Given the description of an element on the screen output the (x, y) to click on. 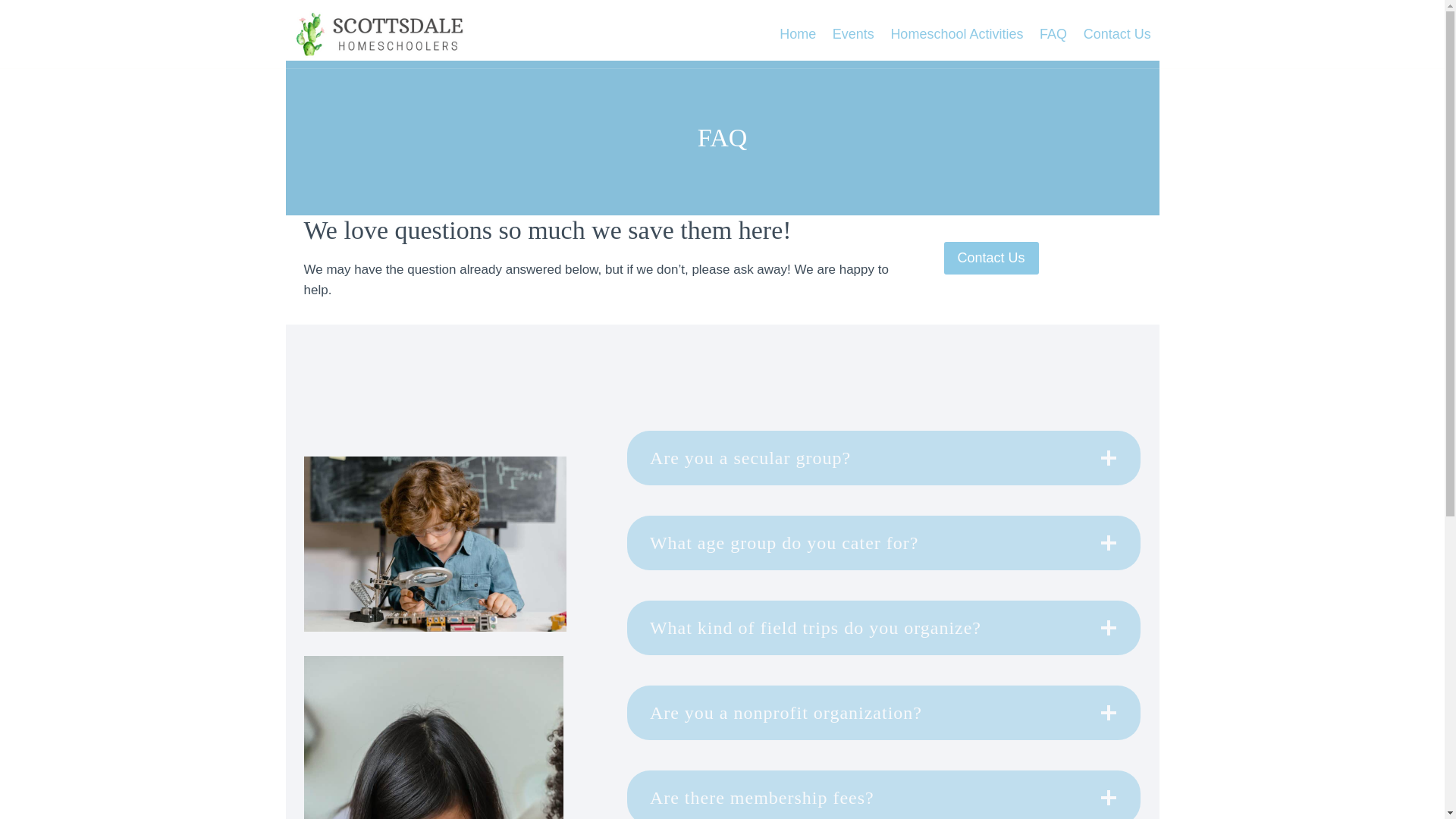
Are you a nonprofit organization? (884, 712)
Contact Us (990, 257)
Events (853, 34)
Contact Us (1116, 34)
Are there membership fees? (884, 794)
What kind of field trips do you organize? (884, 627)
Homeschool Activities (957, 34)
Are you a secular group? (884, 457)
Home (797, 34)
What age group do you cater for? (884, 542)
FAQ (1052, 34)
